Given the description of an element on the screen output the (x, y) to click on. 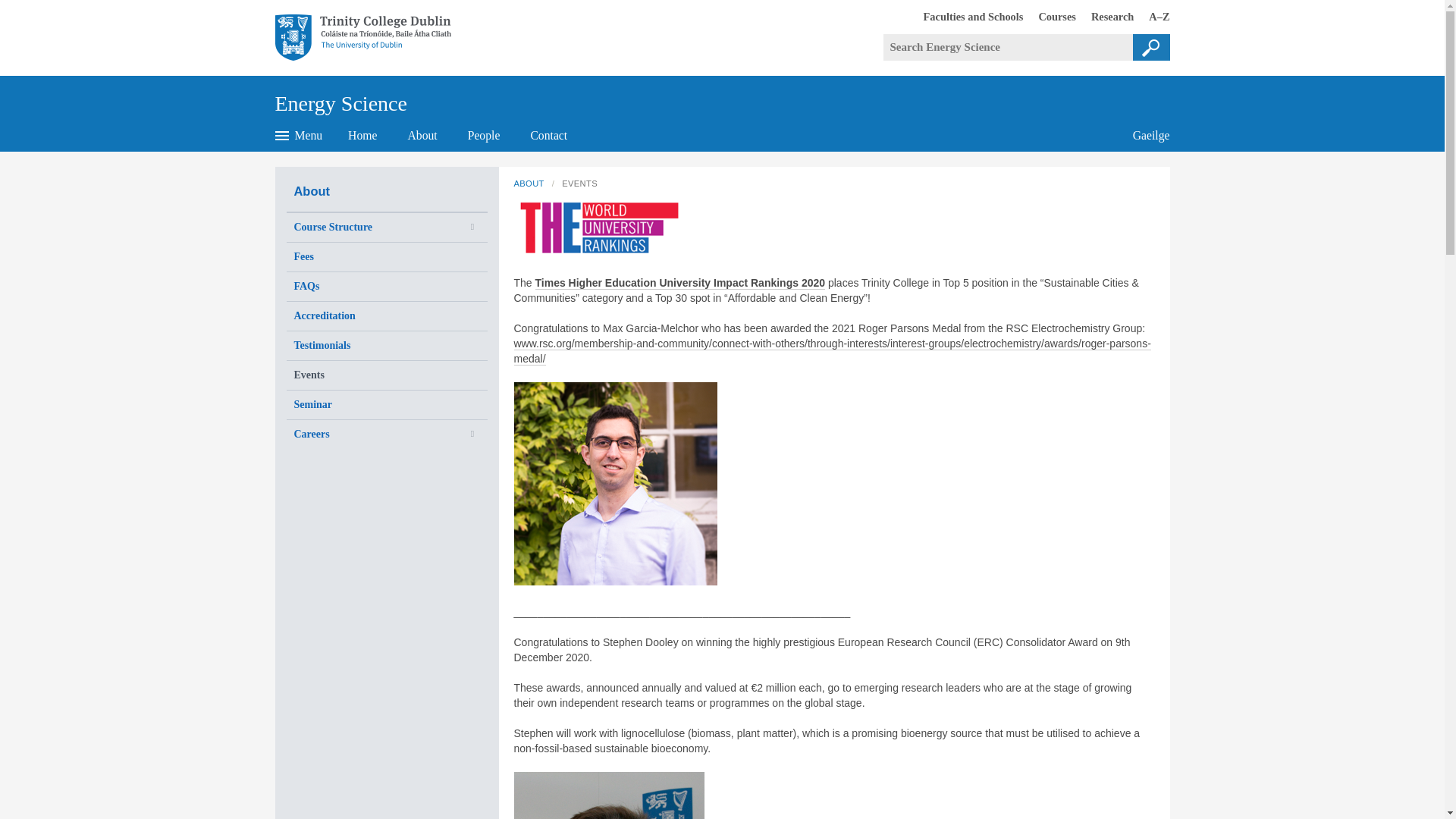
About (1104, 15)
Go (421, 135)
Energy Science (1151, 47)
Home (340, 98)
Faculties and Schools (362, 135)
People (1049, 15)
Trinity College Dublin, The University of Dublin (965, 15)
Go (483, 135)
